Given the description of an element on the screen output the (x, y) to click on. 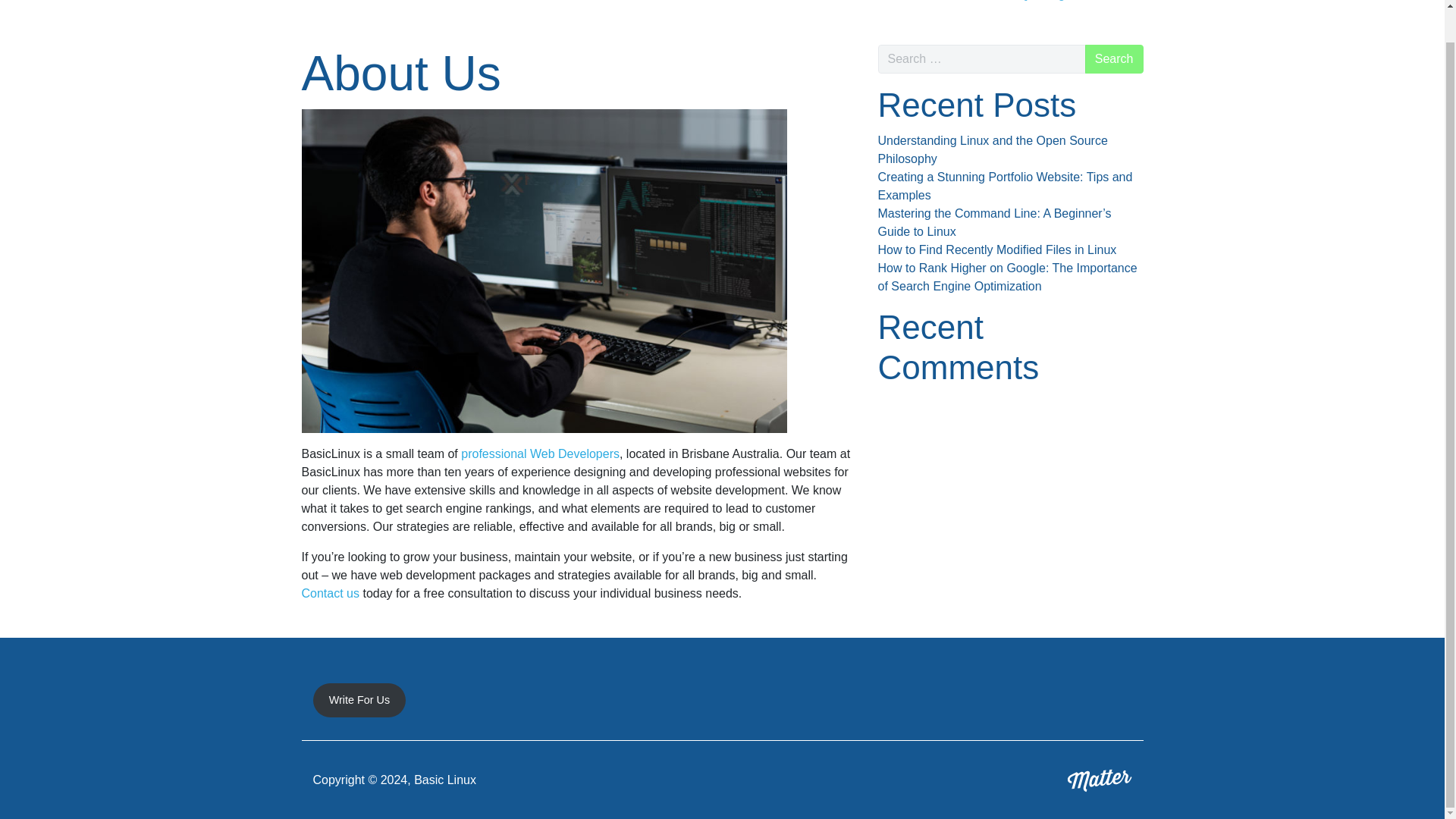
Blog (1051, 6)
Contact Us (1106, 6)
Search (1113, 59)
Blog (1051, 6)
FAQ (1015, 6)
Matter Solutions (1099, 779)
FAQ (1015, 6)
professional Web Developers (540, 453)
Basic Linux (339, 6)
Basic Linux (339, 6)
About Us (827, 6)
Write For Us (359, 700)
How to Find Recently Modified Files in Linux (996, 249)
Search (1113, 59)
